Given the description of an element on the screen output the (x, y) to click on. 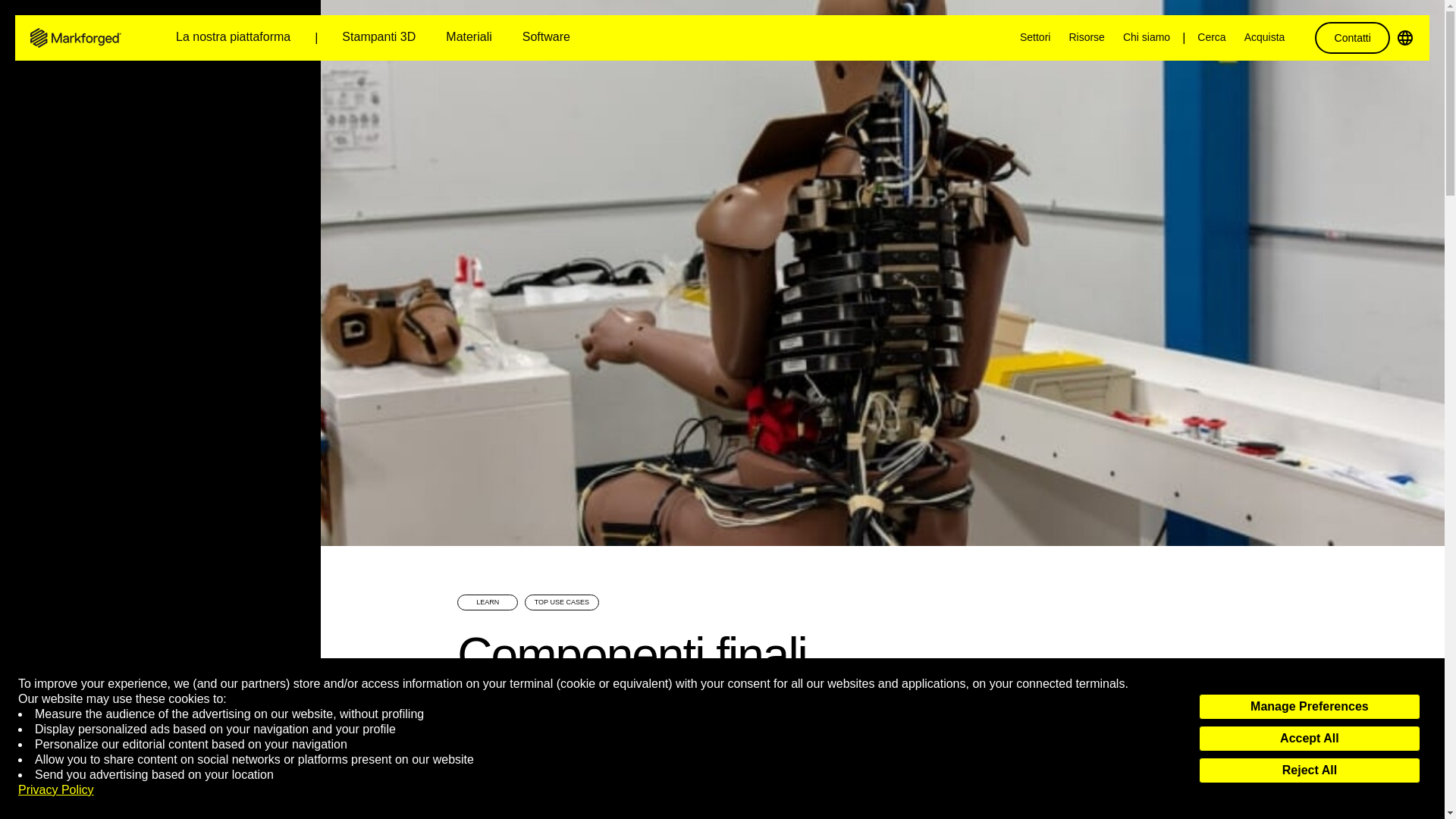
Manage Preferences (1309, 706)
Reject All (1309, 769)
Materiali (468, 37)
Privacy Policy (55, 789)
Stampanti 3D (379, 37)
Accept All (1309, 738)
La nostra piattaforma (233, 37)
